Given the description of an element on the screen output the (x, y) to click on. 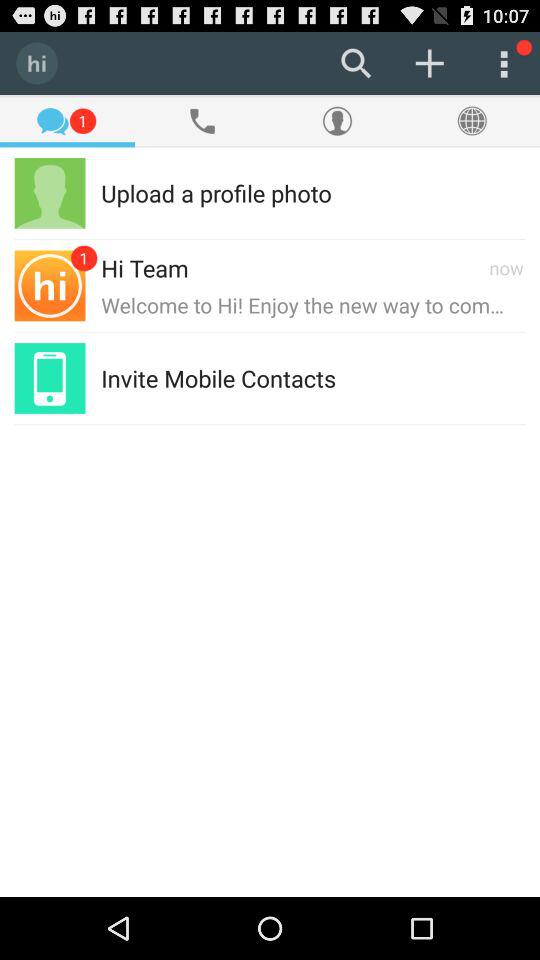
choose app to the right of invite mobile contacts item (430, 378)
